Given the description of an element on the screen output the (x, y) to click on. 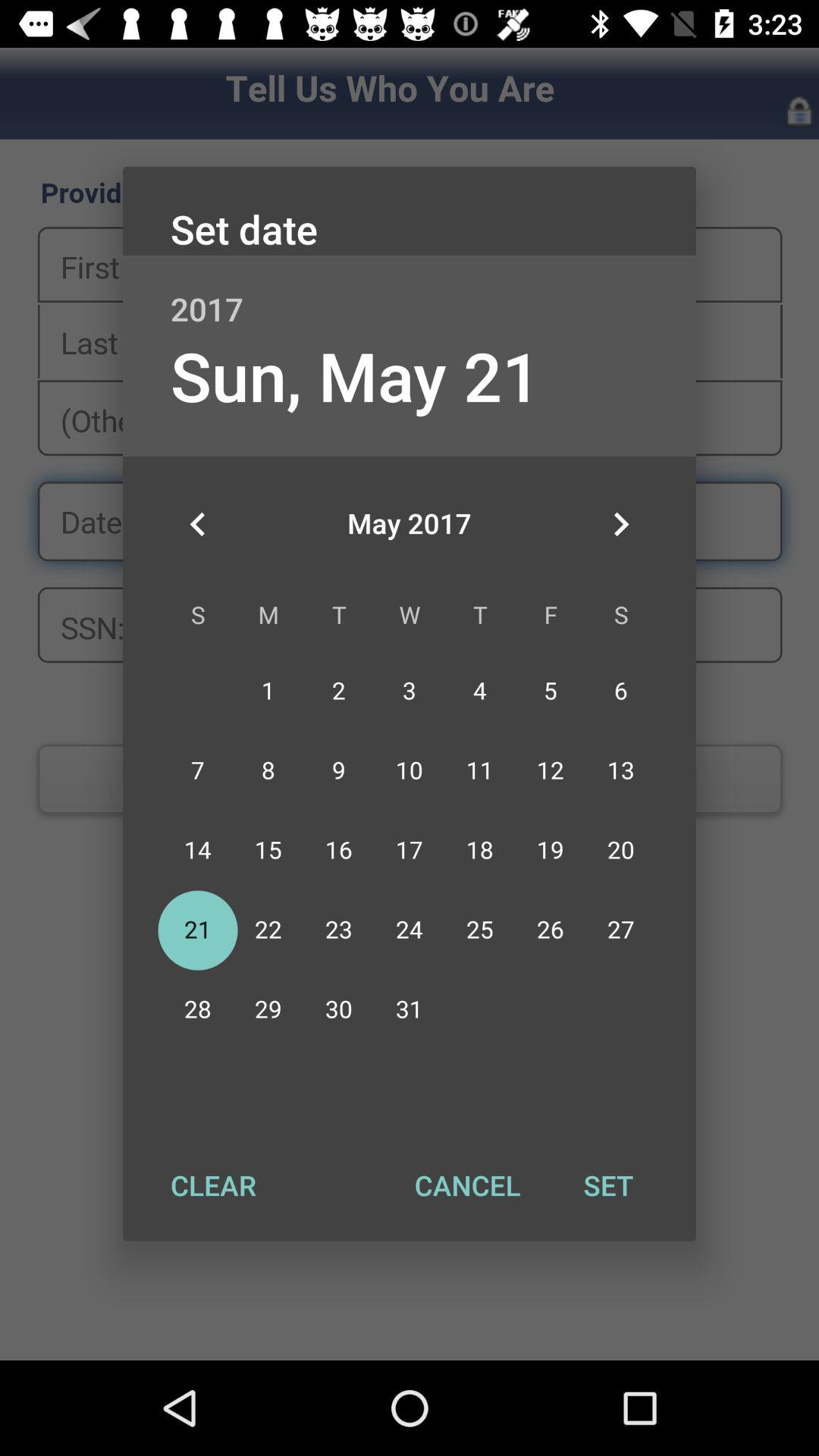
choose cancel at the bottom (467, 1185)
